Given the description of an element on the screen output the (x, y) to click on. 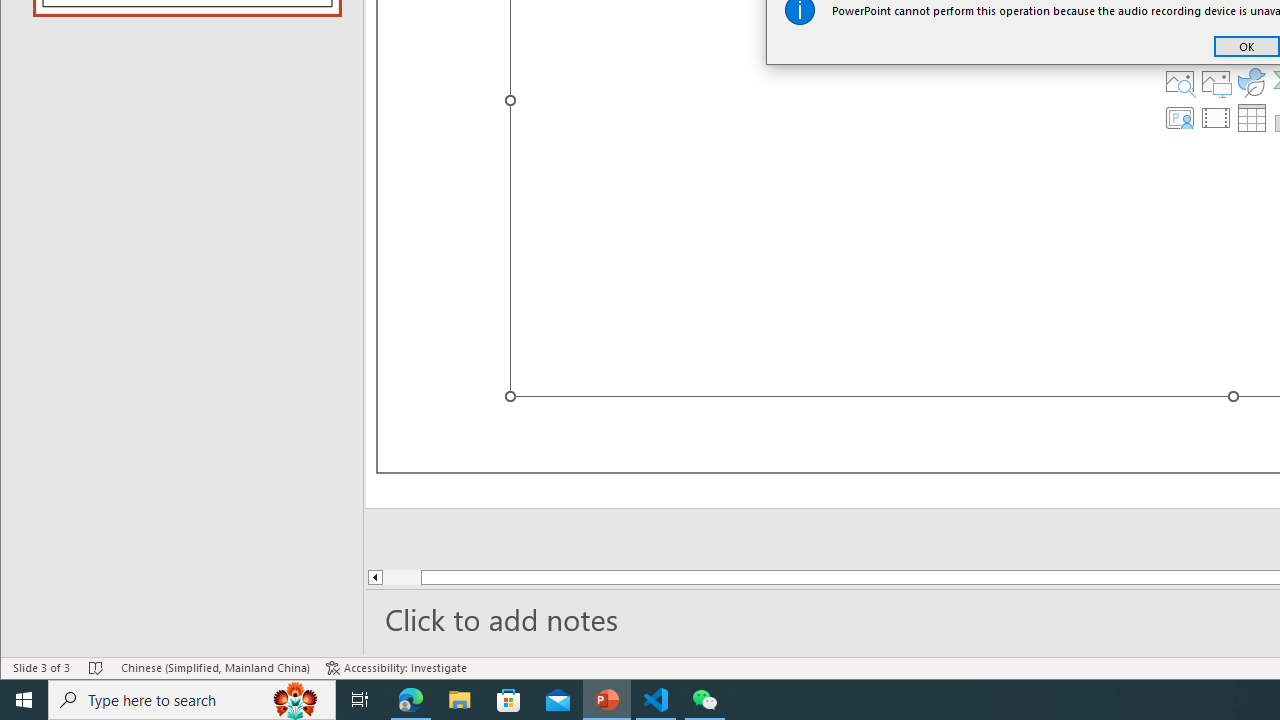
Insert Table (1252, 117)
Microsoft Edge - 1 running window (411, 699)
Insert Cameo (1179, 117)
WeChat - 1 running window (704, 699)
